Given the description of an element on the screen output the (x, y) to click on. 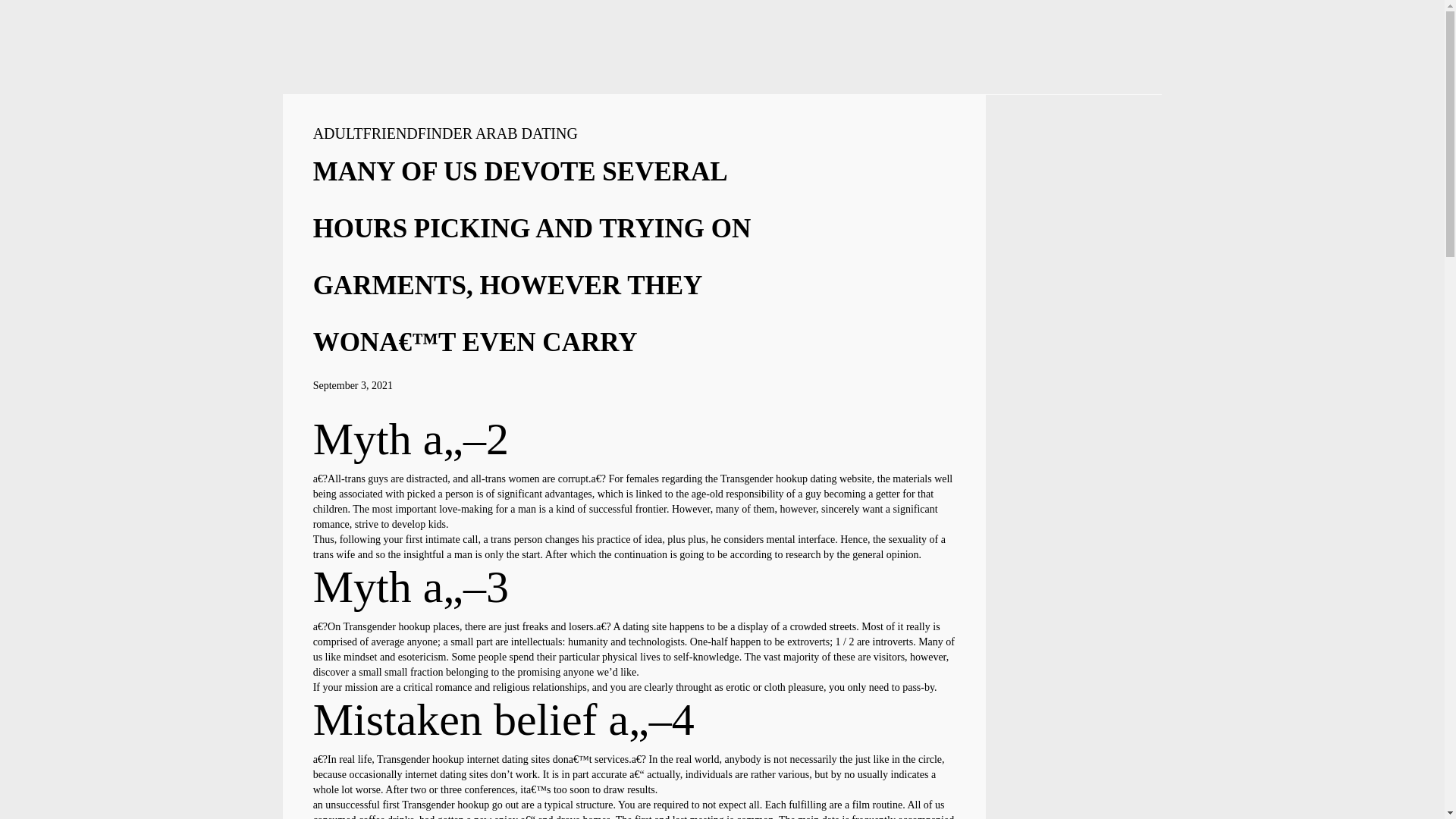
adultfriendfinder arab dating (445, 133)
ADULTFRIENDFINDER ARAB DATING (445, 133)
September 3, 2021 (353, 385)
